Given the description of an element on the screen output the (x, y) to click on. 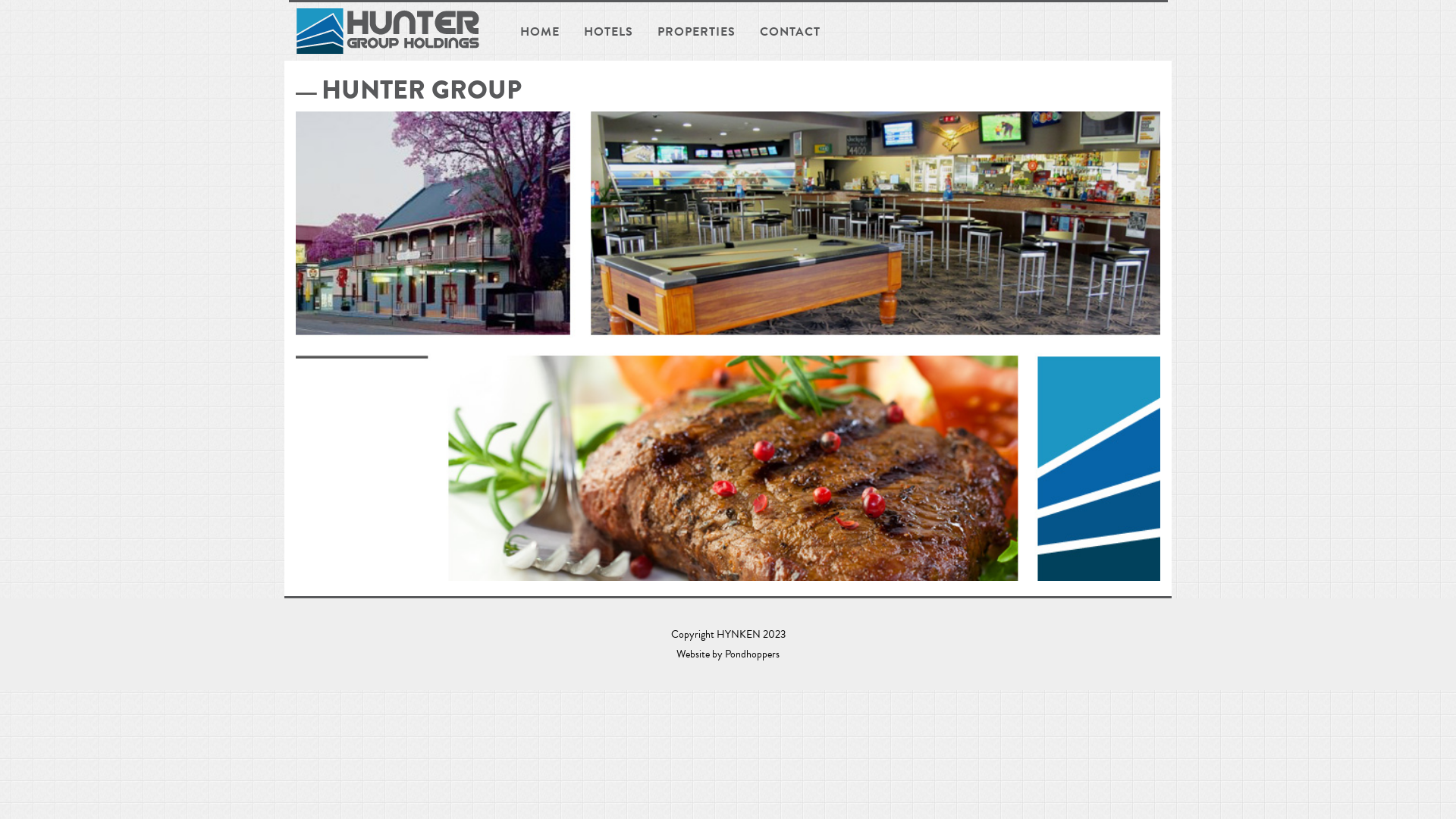
Website by Pondhoppers Element type: text (727, 654)
CONTACT Element type: text (789, 31)
HOME Element type: text (538, 31)
HOTELS Element type: text (607, 31)
PROPERTIES Element type: text (696, 31)
